Given the description of an element on the screen output the (x, y) to click on. 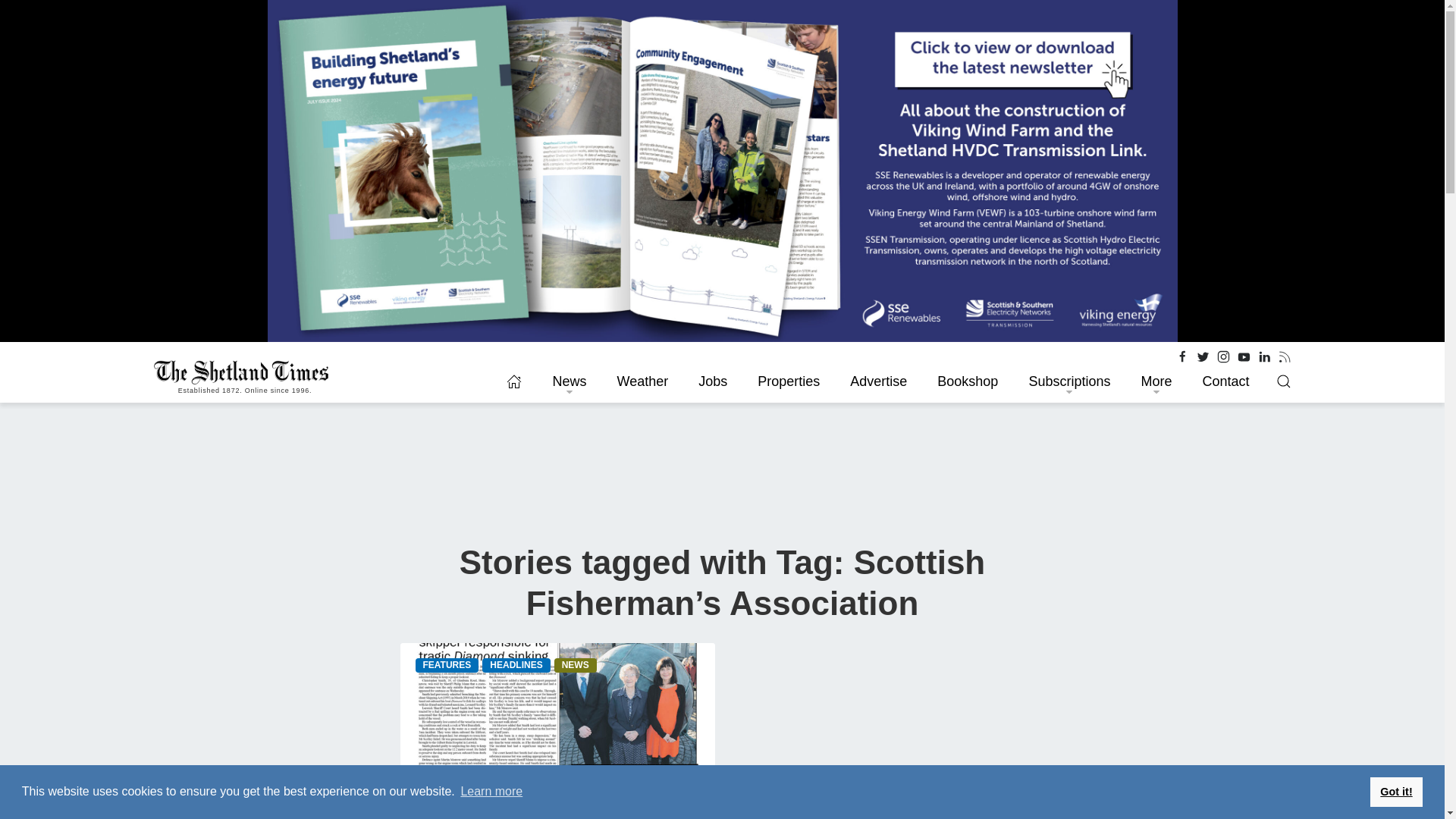
3rd party ad content (1176, 786)
3rd party ad content (266, 786)
Subscriptions (1069, 381)
Properties (788, 381)
Weather (641, 381)
Got it! (1396, 791)
3rd party ad content (1176, 637)
Advertise (877, 381)
3rd party ad content (266, 637)
More (1155, 381)
Jobs (712, 381)
Bookshop (967, 381)
Contact (1224, 381)
Learn more (491, 791)
3rd party ad content (722, 474)
